Given the description of an element on the screen output the (x, y) to click on. 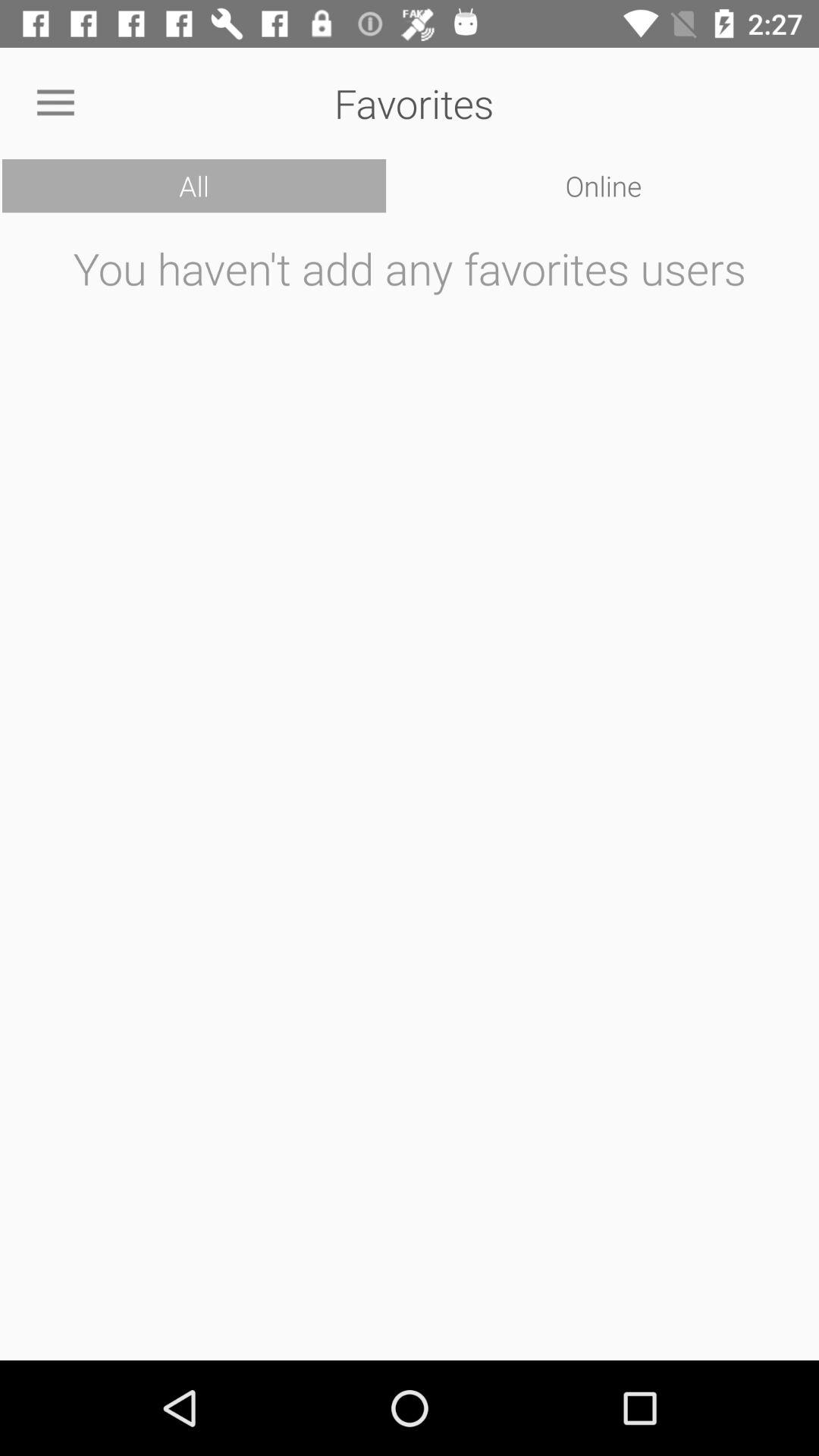
open the icon below the favorites item (603, 185)
